Given the description of an element on the screen output the (x, y) to click on. 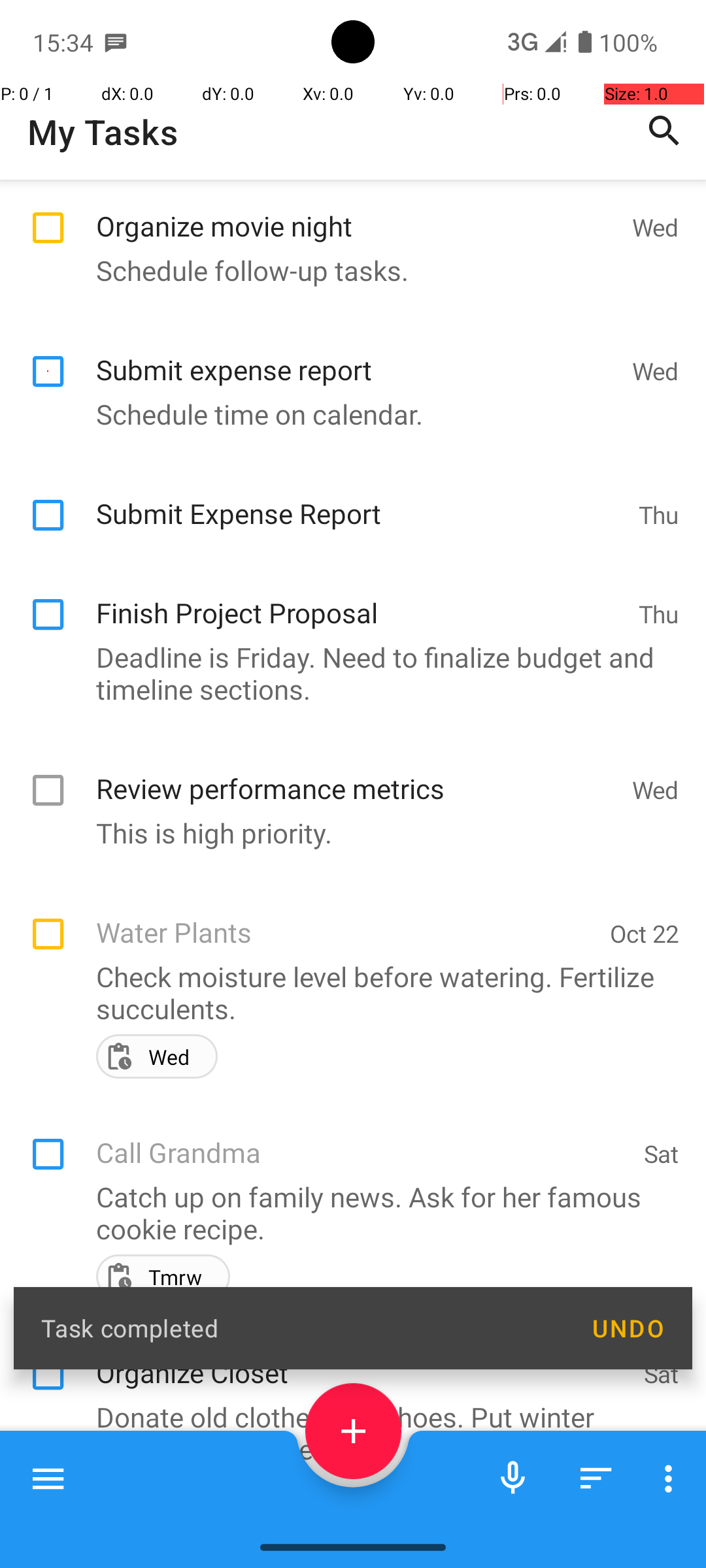
Task completed Element type: android.widget.TextView (302, 1327)
UNDO Element type: android.widget.Button (627, 1328)
Organize movie night Element type: android.widget.TextView (357, 211)
Schedule follow-up tasks. Element type: android.widget.TextView (346, 269)
Submit expense report Element type: android.widget.TextView (357, 474)
Schedule time on calendar. Element type: android.widget.TextView (346, 533)
Deadline is Friday. Need to finalize budget and timeline sections. Element type: android.widget.TextView (346, 792)
Review performance metrics Element type: android.widget.TextView (357, 893)
This is high priority. Element type: android.widget.TextView (346, 951)
Check moisture level before watering. Fertilize succulents. Element type: android.widget.TextView (346, 1111)
Oct 22 Element type: android.widget.TextView (644, 1052)
Catch up on family news. Ask for her famous cookie recipe. Element type: android.widget.TextView (346, 1331)
Sat Element type: android.widget.TextView (661, 1272)
Donate old clothes and shoes. Put winter clothes in storage. Element type: android.widget.TextView (346, 1521)
Brainstorm Blog Post Ideas Element type: android.widget.TextView (363, 1514)
